Given the description of an element on the screen output the (x, y) to click on. 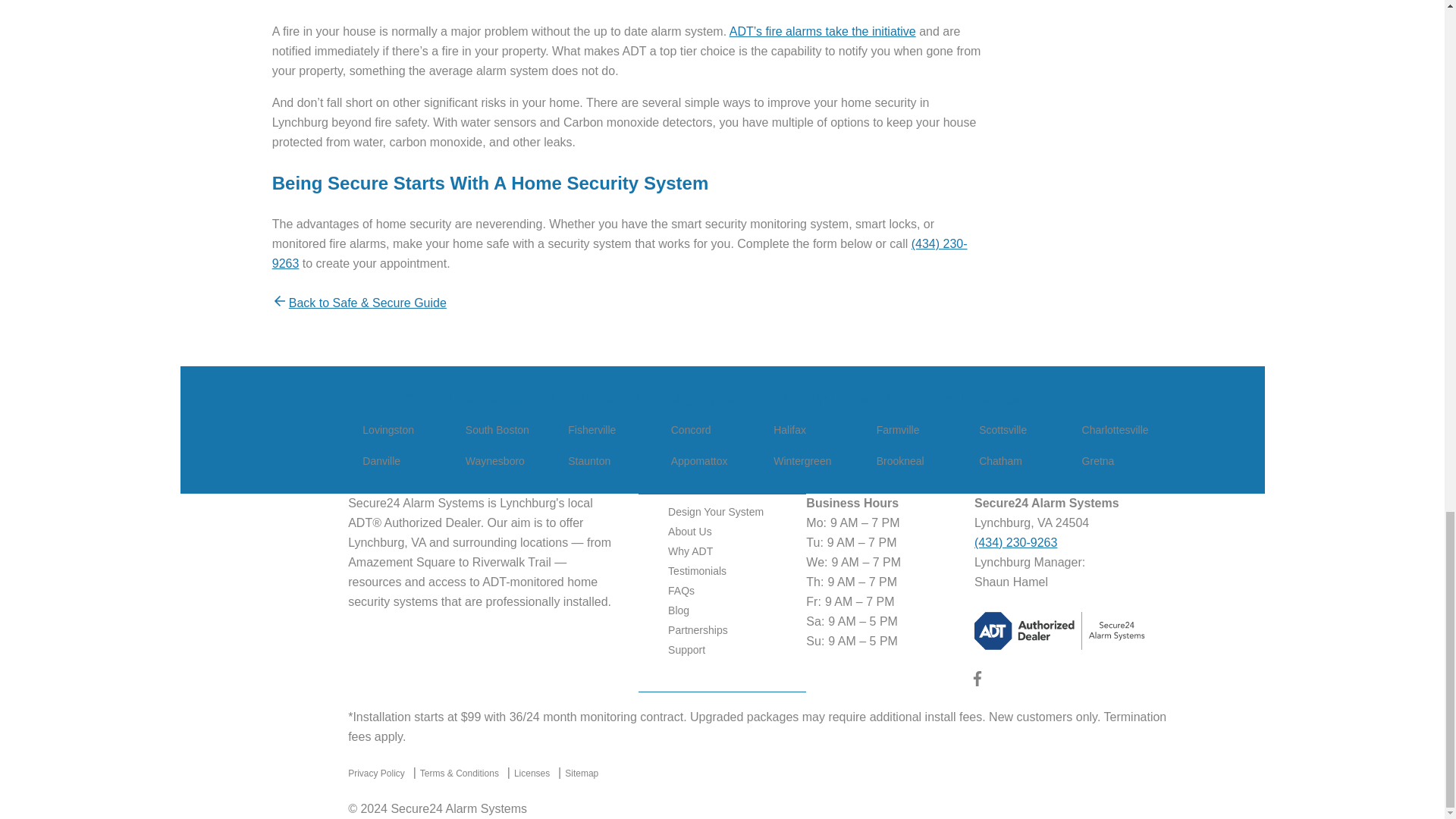
Like us on Facebook (977, 681)
